Given the description of an element on the screen output the (x, y) to click on. 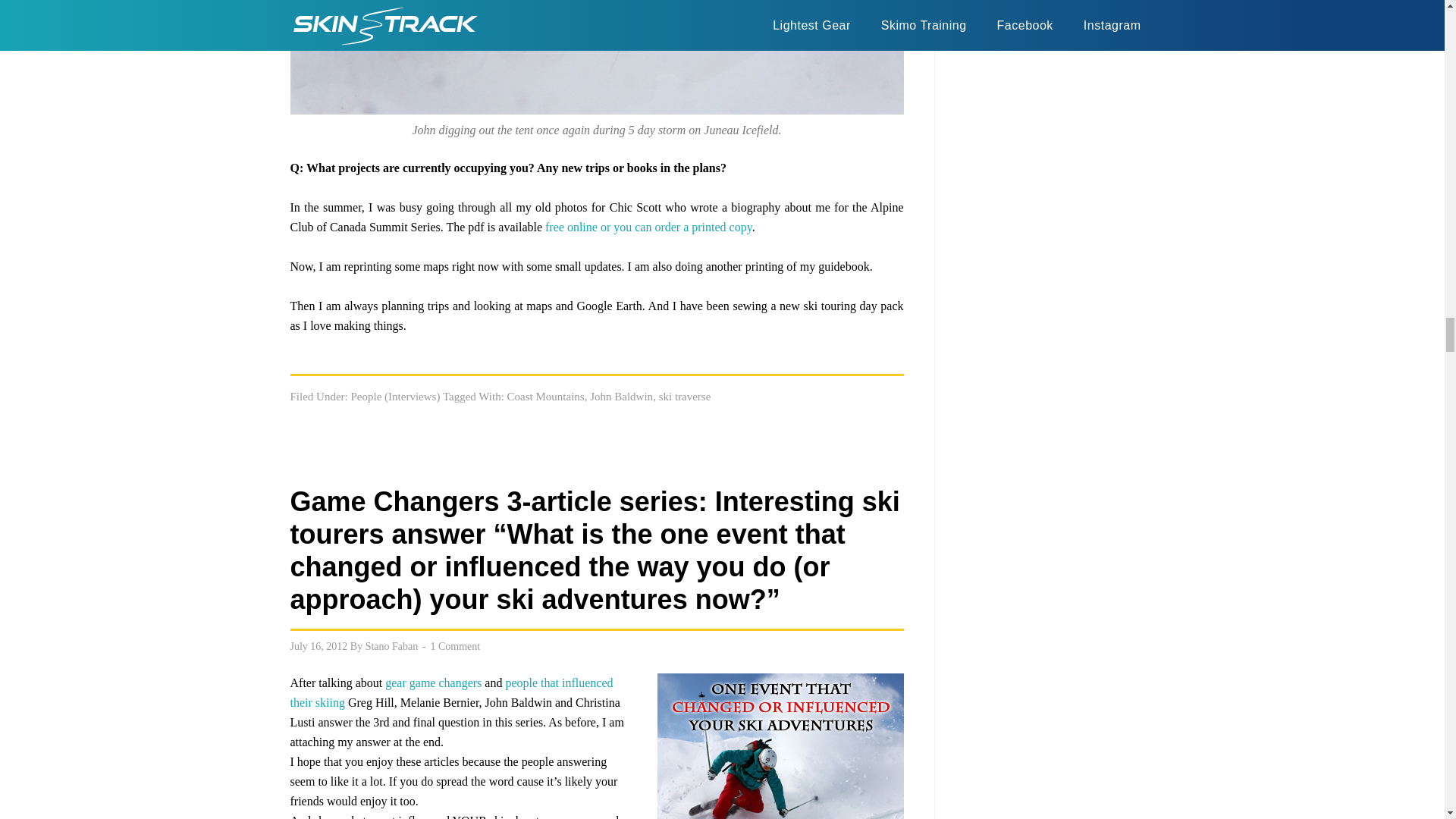
John Baldwin (620, 396)
people that influenced their skiing (450, 692)
1 Comment (454, 645)
free online or you can order a printed copy (648, 226)
Coast Mountains (545, 396)
gear game changers (433, 682)
game-changer-event-325x240 (779, 746)
ski traverse (685, 396)
Stano Faban (392, 645)
